Given the description of an element on the screen output the (x, y) to click on. 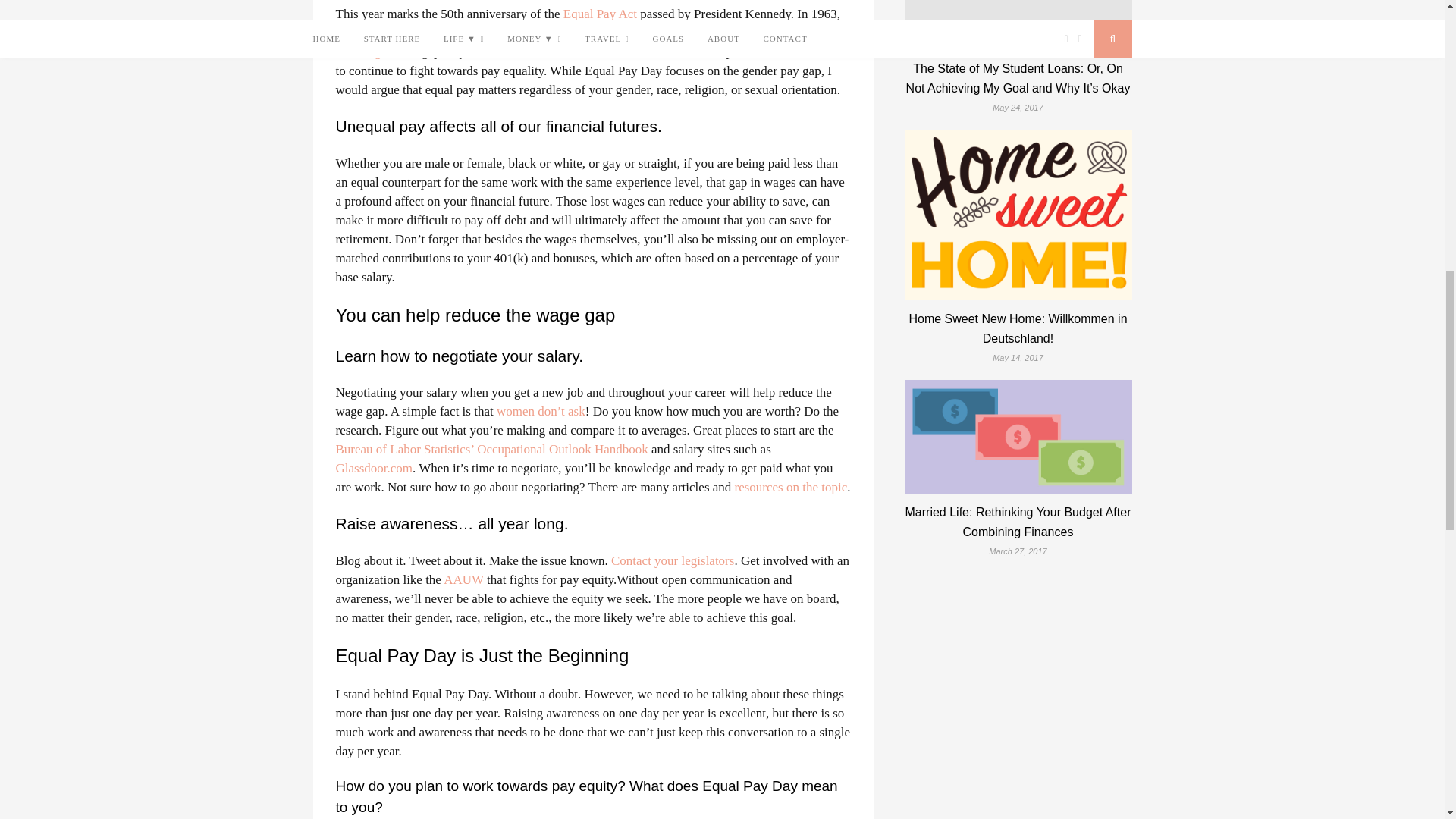
Equal Pay Act of 1963 - Wikipedia (600, 13)
Three Negotiating No-Nos for Women (810, 486)
Contact Your Legislators - AAUW (672, 560)
AAUW - Fair Pay (463, 579)
Glassdoor.com (373, 468)
Occupational Outlook Handbook - Bureau of Labor Statistics (490, 449)
A Toolkit for Women Seeking a Raise - NY Times (792, 486)
50 Years After the Equal Pay Act, Parity Eludes Us - AAUW (591, 41)
Smart Salary Negotiation Workshop - AAUW (759, 486)
